Given the description of an element on the screen output the (x, y) to click on. 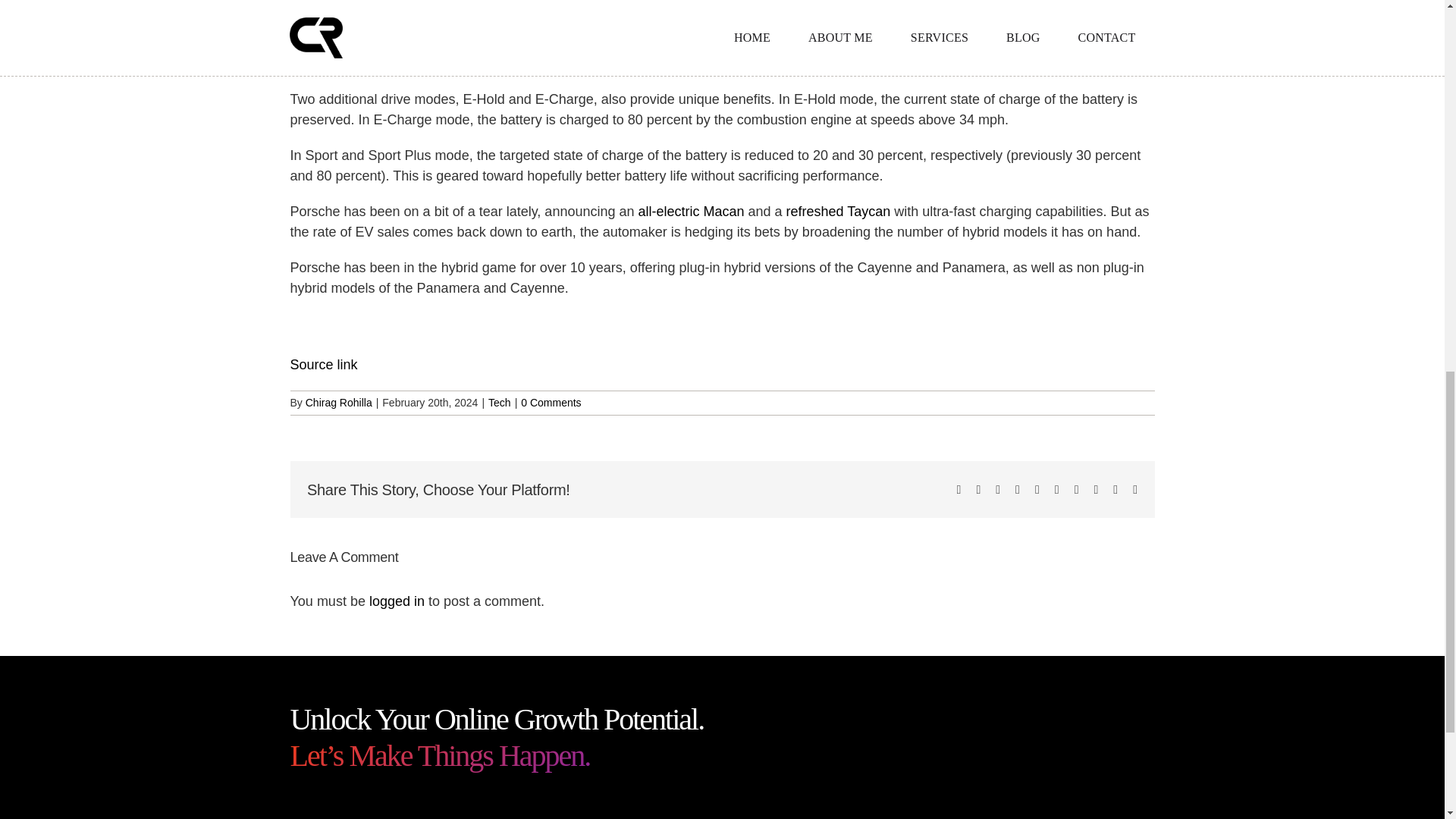
0 Comments (550, 402)
all-electric Macan (690, 211)
Tech (499, 402)
logged in (397, 601)
Chirag Rohilla (338, 402)
refreshed Taycan (838, 211)
Posts by Chirag Rohilla (338, 402)
Source link (322, 364)
